Given the description of an element on the screen output the (x, y) to click on. 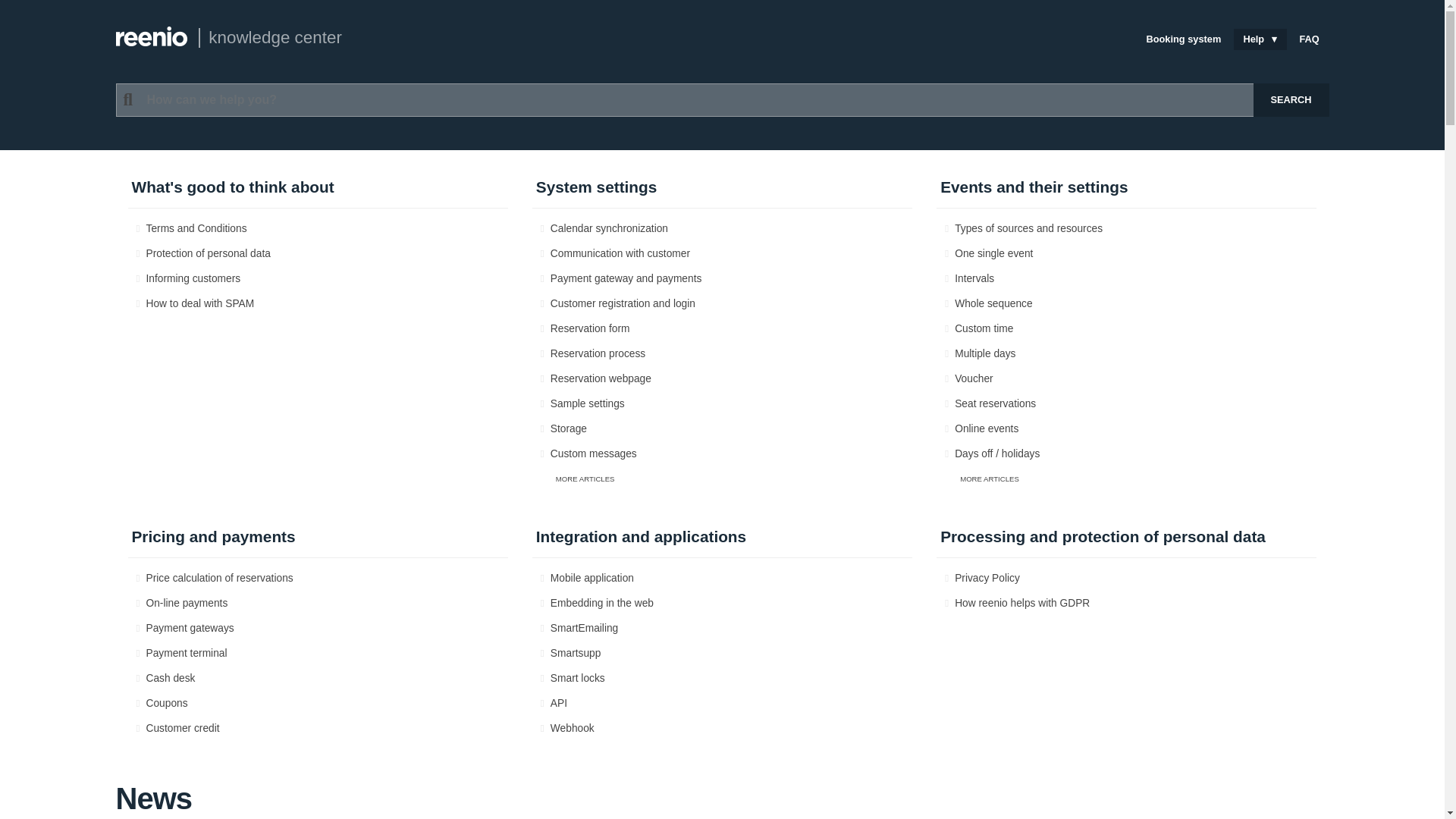
MORE ARTICLES (729, 478)
System settings (722, 191)
SEARCH (1289, 100)
Custom messages (721, 454)
What's good to think about (317, 191)
Events and their settings (1126, 191)
Protection of personal data (317, 253)
Reservation webpage (721, 378)
Informing customers (317, 278)
Whole sequence (1126, 303)
